Given the description of an element on the screen output the (x, y) to click on. 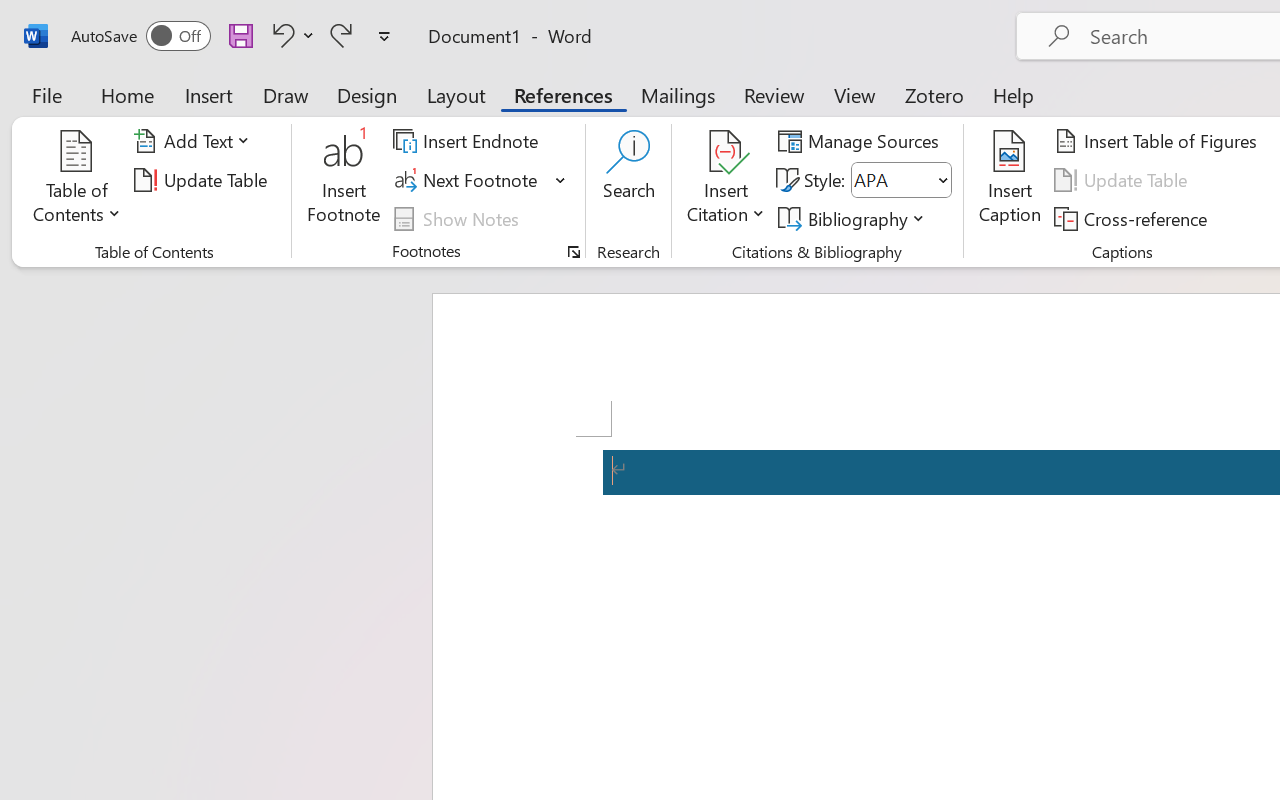
Style (892, 179)
Manage Sources... (861, 141)
Add Text (195, 141)
Insert Footnote (344, 179)
Insert Citation (726, 179)
Insert Endnote (468, 141)
Redo Apply Quick Style (341, 35)
